Given the description of an element on the screen output the (x, y) to click on. 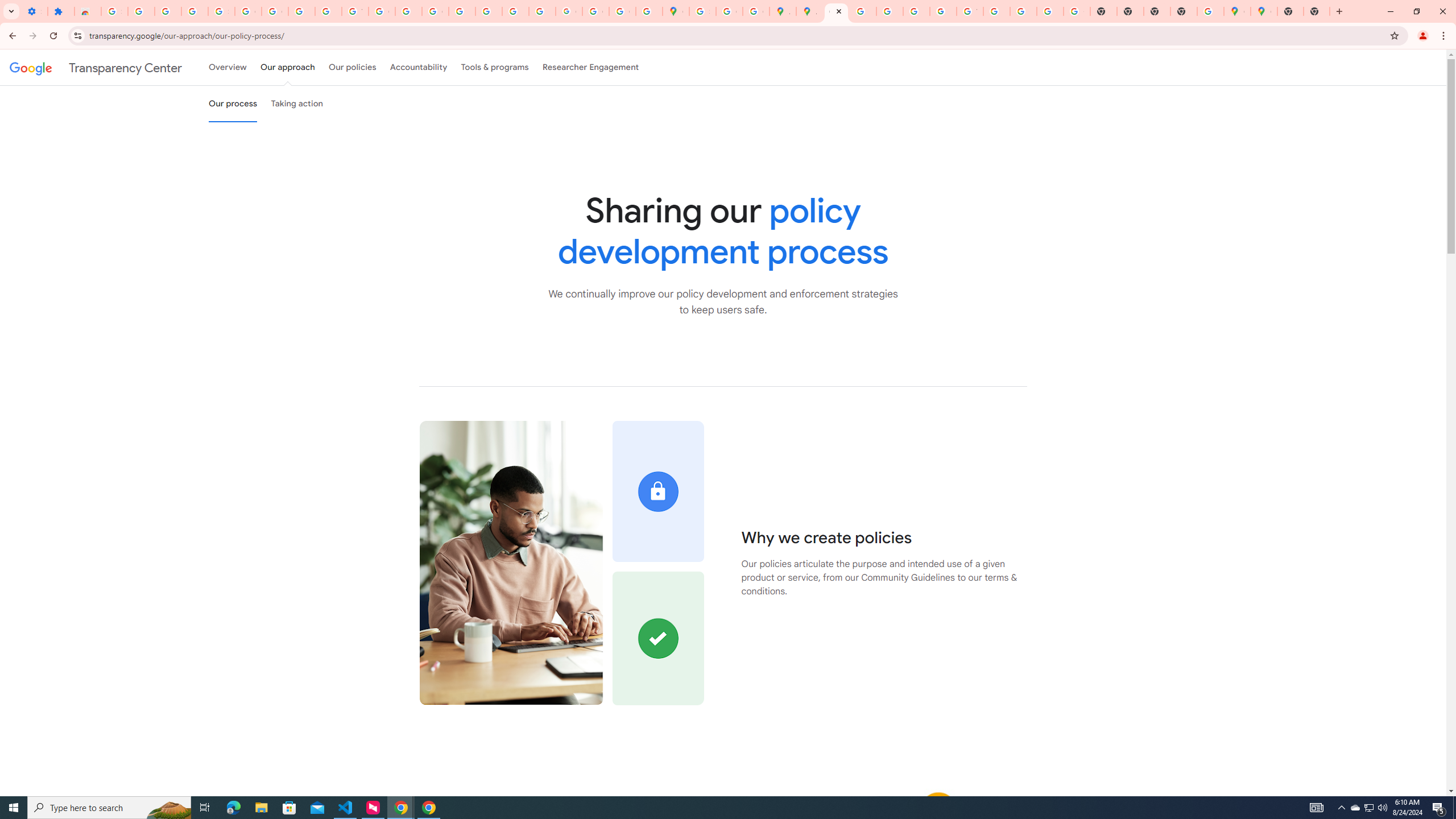
Create your Google Account (729, 11)
New Tab (1290, 11)
Our approach (287, 67)
Reviews: Helix Fruit Jump Arcade Game (87, 11)
https://scholar.google.com/ (408, 11)
YouTube (355, 11)
